Given the description of an element on the screen output the (x, y) to click on. 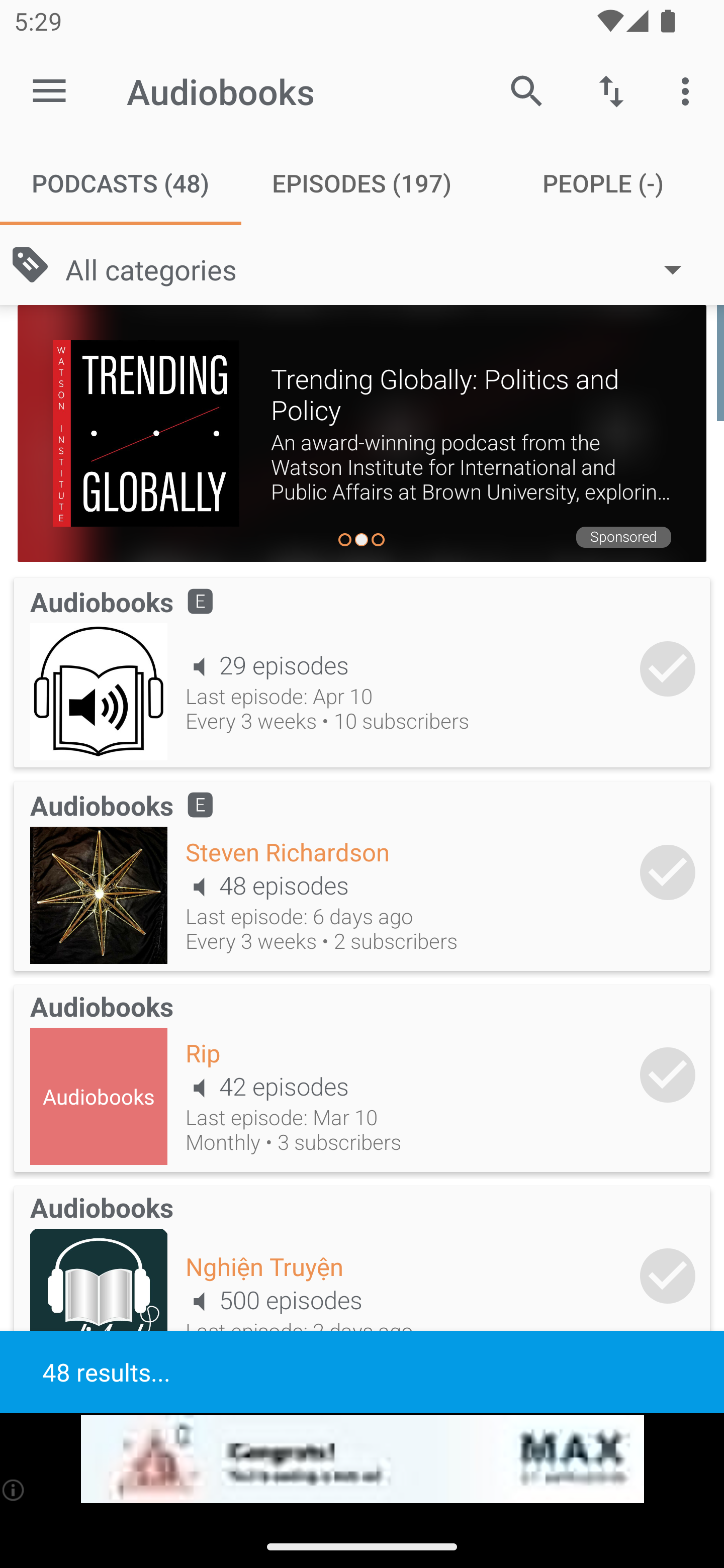
Open navigation sidebar (49, 91)
Search (526, 90)
Sort (611, 90)
More options (688, 90)
Episodes (197) EPISODES (197) (361, 183)
People (-) PEOPLE (-) (603, 183)
All categories (383, 268)
Add (667, 669)
Add (667, 871)
Add (667, 1074)
Add (667, 1276)
app-monetization (362, 1459)
(i) (14, 1489)
